Given the description of an element on the screen output the (x, y) to click on. 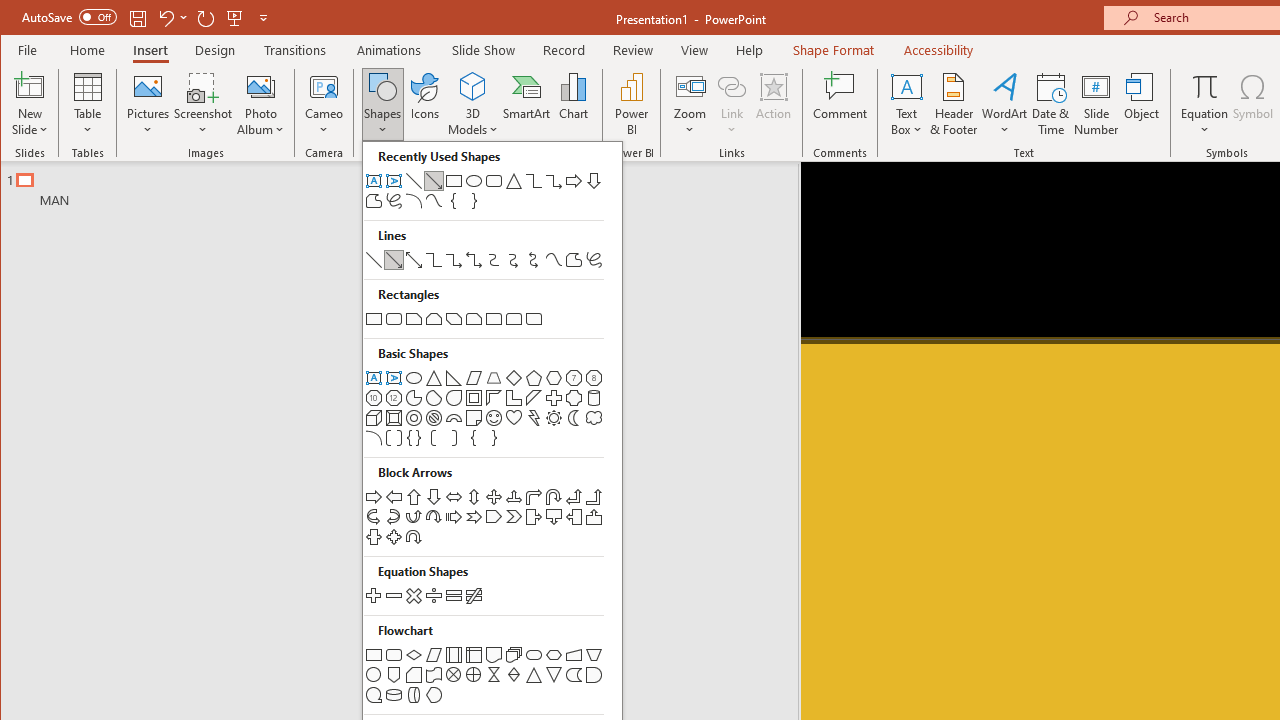
Equation (1204, 86)
Icons (424, 104)
Screenshot (203, 104)
Header & Footer... (954, 104)
Slide Number (1096, 104)
Power BI (631, 104)
Object... (1142, 104)
Cameo (324, 86)
